Given the description of an element on the screen output the (x, y) to click on. 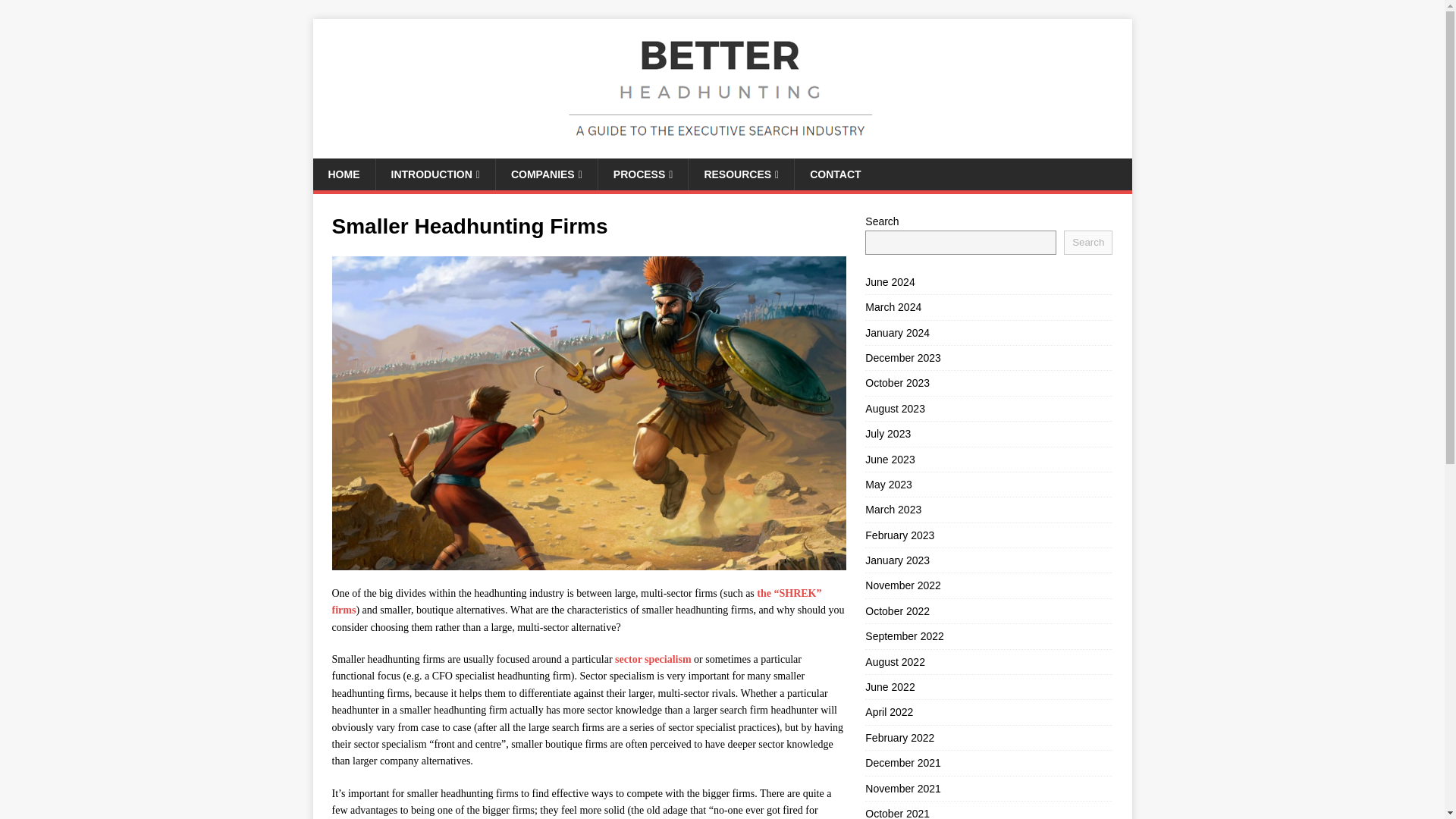
HOME (343, 174)
INTRODUCTION (434, 174)
COMPANIES (545, 174)
